Given the description of an element on the screen output the (x, y) to click on. 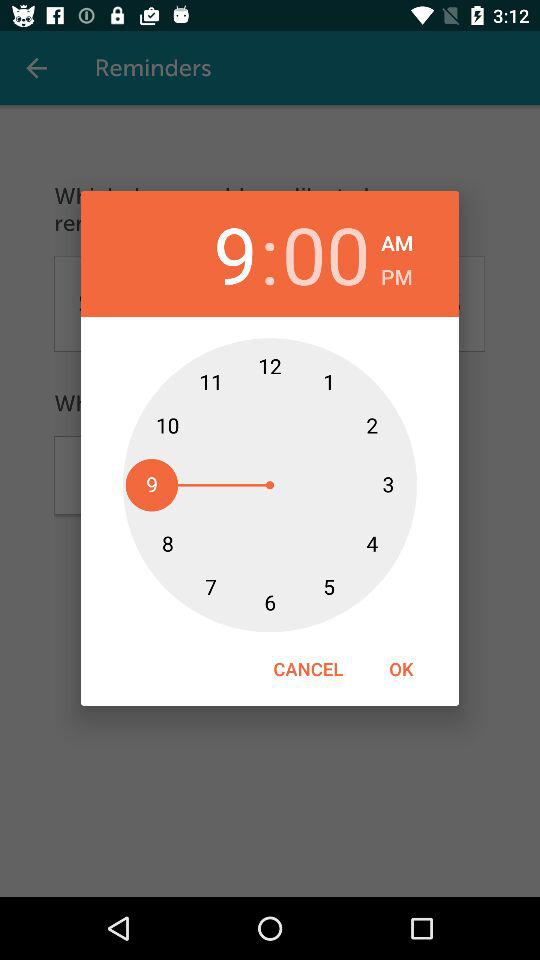
tap icon to the left of am item (325, 253)
